Given the description of an element on the screen output the (x, y) to click on. 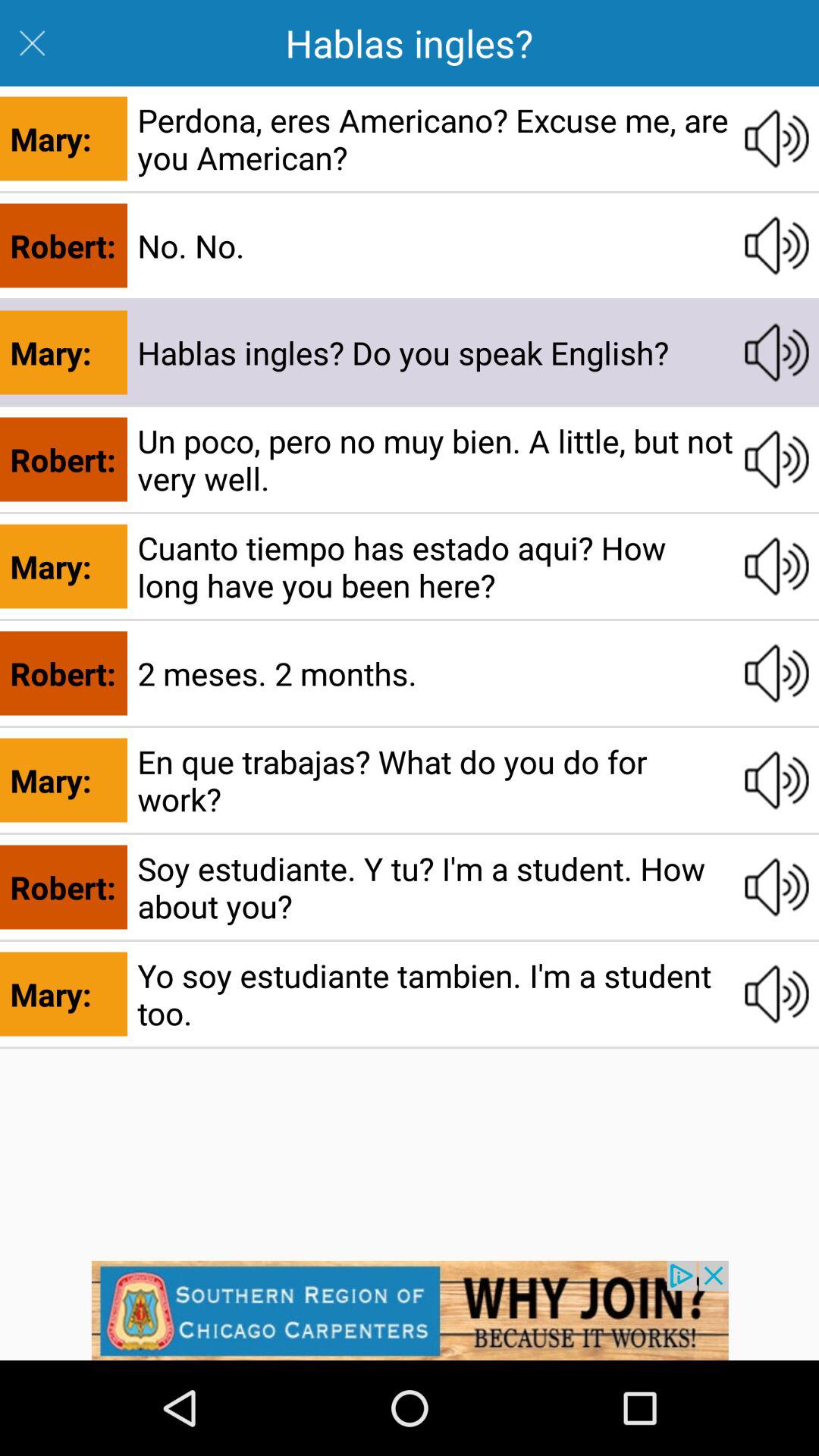
it is a notification key (409, 1310)
